Given the description of an element on the screen output the (x, y) to click on. 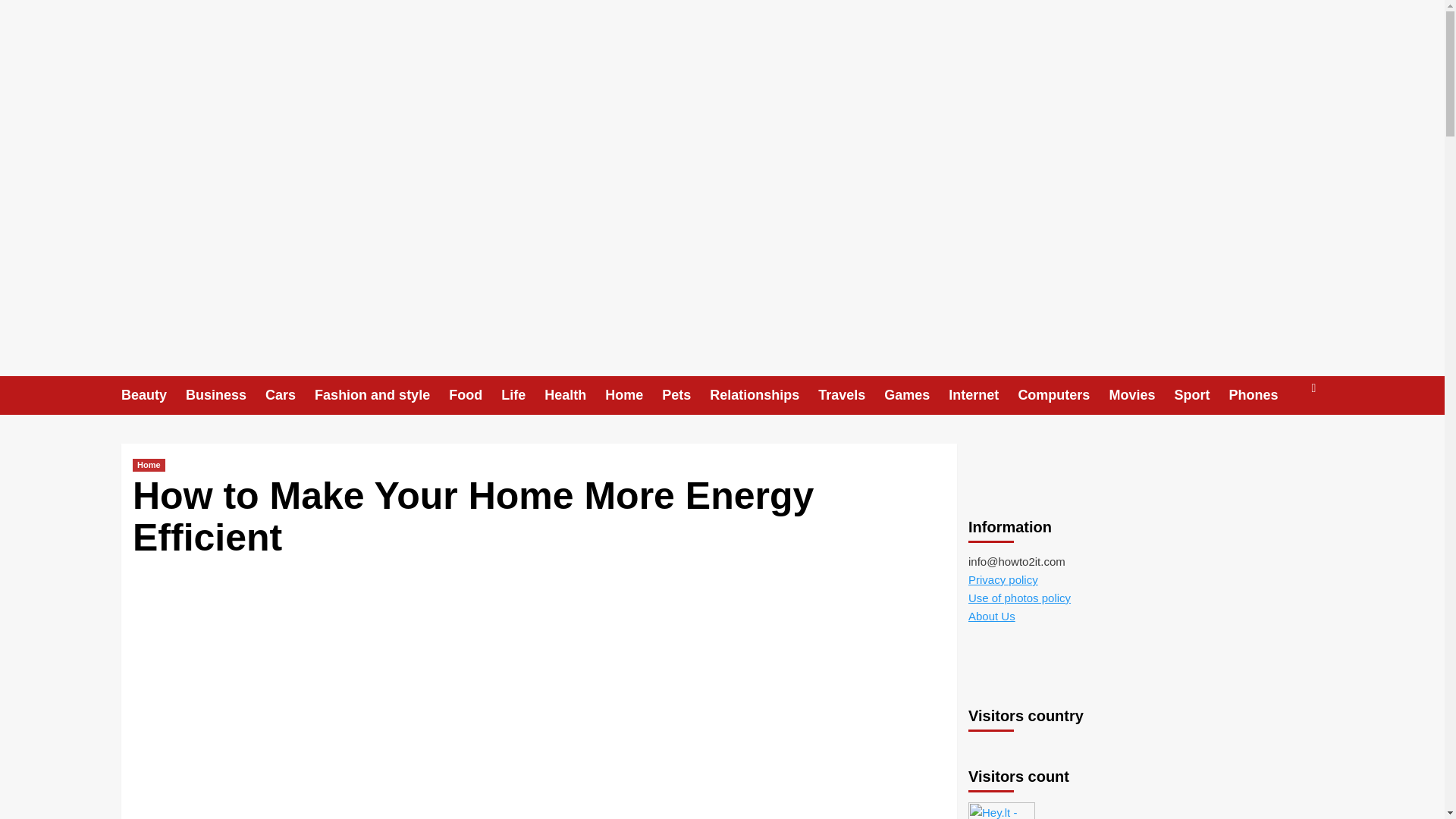
Privacy policy (1003, 579)
Home (633, 394)
Beauty (153, 394)
Home (148, 464)
Travels (850, 394)
Movies (1140, 394)
Phones (1262, 394)
About Us (991, 615)
Business (225, 394)
Pets (686, 394)
Games (916, 394)
Internet (983, 394)
Health (574, 394)
Sport (1200, 394)
Food (474, 394)
